Given the description of an element on the screen output the (x, y) to click on. 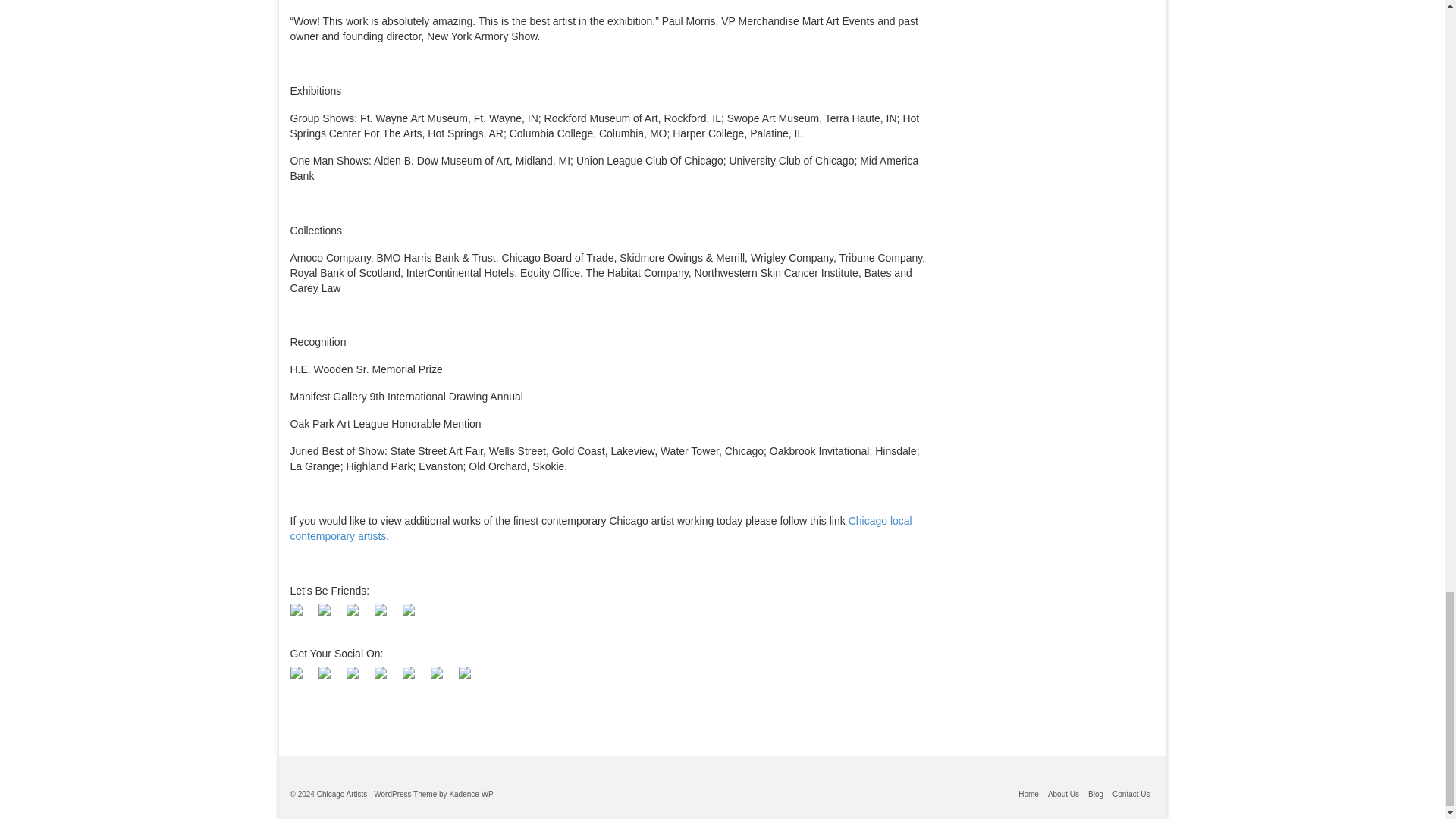
Find us on Linkedin (352, 609)
Find us on Linkedin (357, 615)
Follow us on Facebook (295, 609)
Follow us on Twitter (324, 609)
Contact Us (407, 609)
Check out our instagram feed (386, 615)
Contact Us (413, 615)
Follow us on Twitter (330, 615)
Chicago local contemporary artists (600, 528)
Follow us on Facebook (301, 615)
Check out our instagram feed (380, 609)
